Given the description of an element on the screen output the (x, y) to click on. 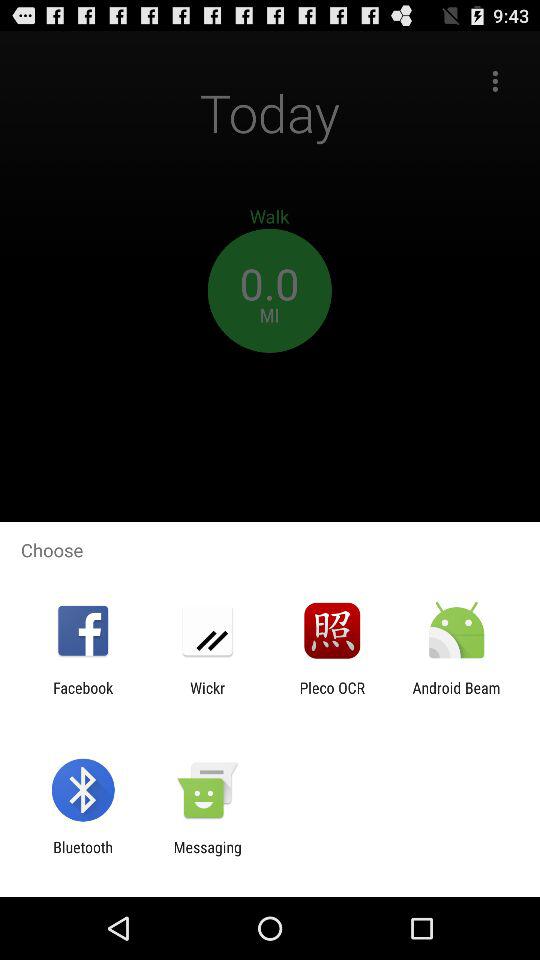
scroll until android beam icon (456, 696)
